Given the description of an element on the screen output the (x, y) to click on. 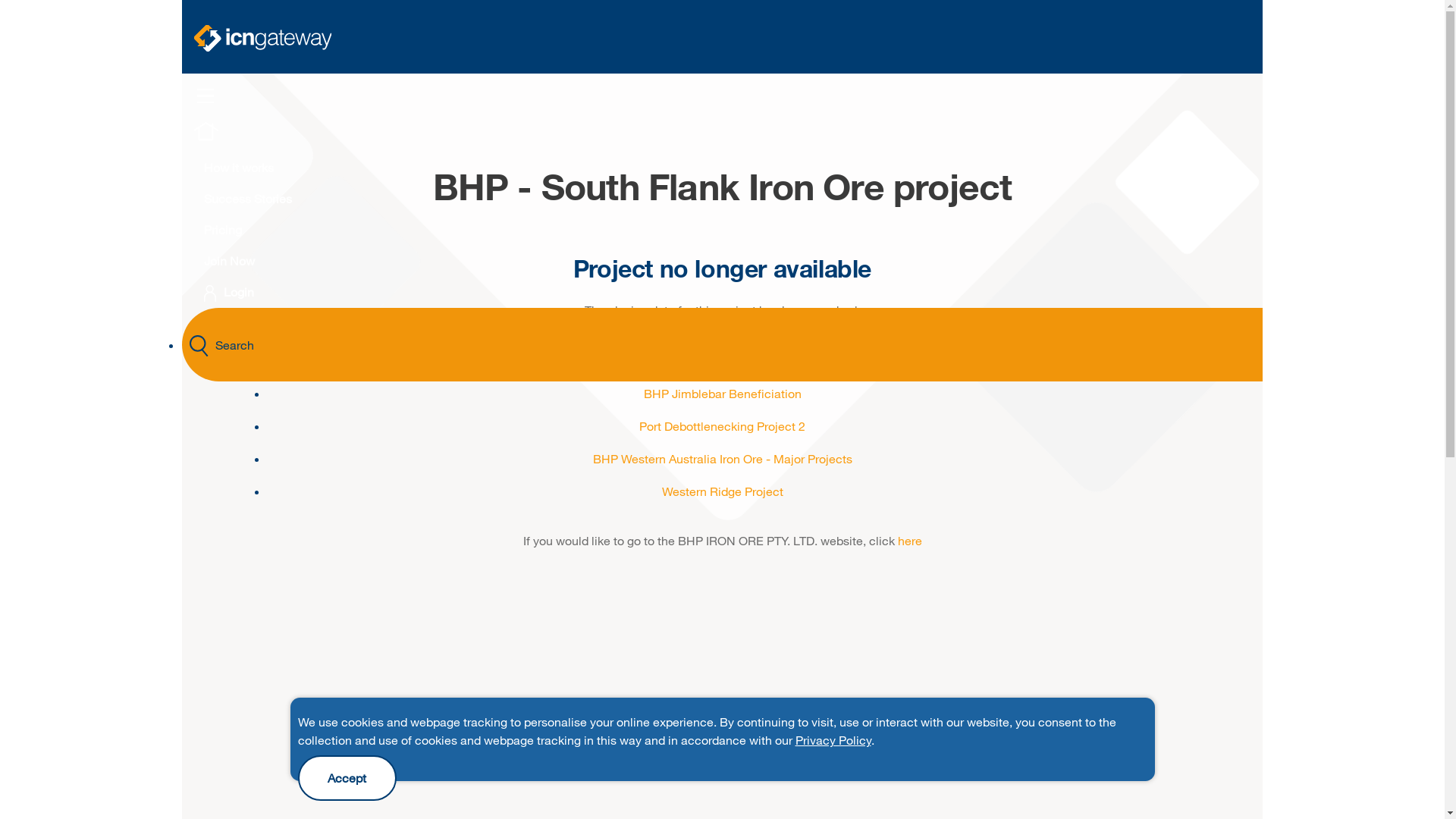
Pricing Element type: text (222, 229)
here Element type: text (909, 540)
Western Ridge Project Element type: text (721, 490)
Port Debottlenecking Project 2 Element type: text (722, 425)
Search Element type: text (722, 344)
BHP Western Australia Iron Ore - Major Projects Element type: text (722, 458)
ICN Gateway Home Element type: hover (262, 38)
BHP Jimblebar Beneficiation Element type: text (721, 392)
Join Now Element type: text (229, 260)
ICN Gateway Home Element type: text (205, 137)
How it works Element type: text (238, 166)
Privacy Policy Element type: text (832, 739)
Search Projects or Suppliers Element type: hover (198, 346)
Success Stories Element type: text (247, 198)
Accept Element type: text (346, 777)
Login menu Element type: hover (209, 293)
Login Element type: text (228, 291)
